Given the description of an element on the screen output the (x, y) to click on. 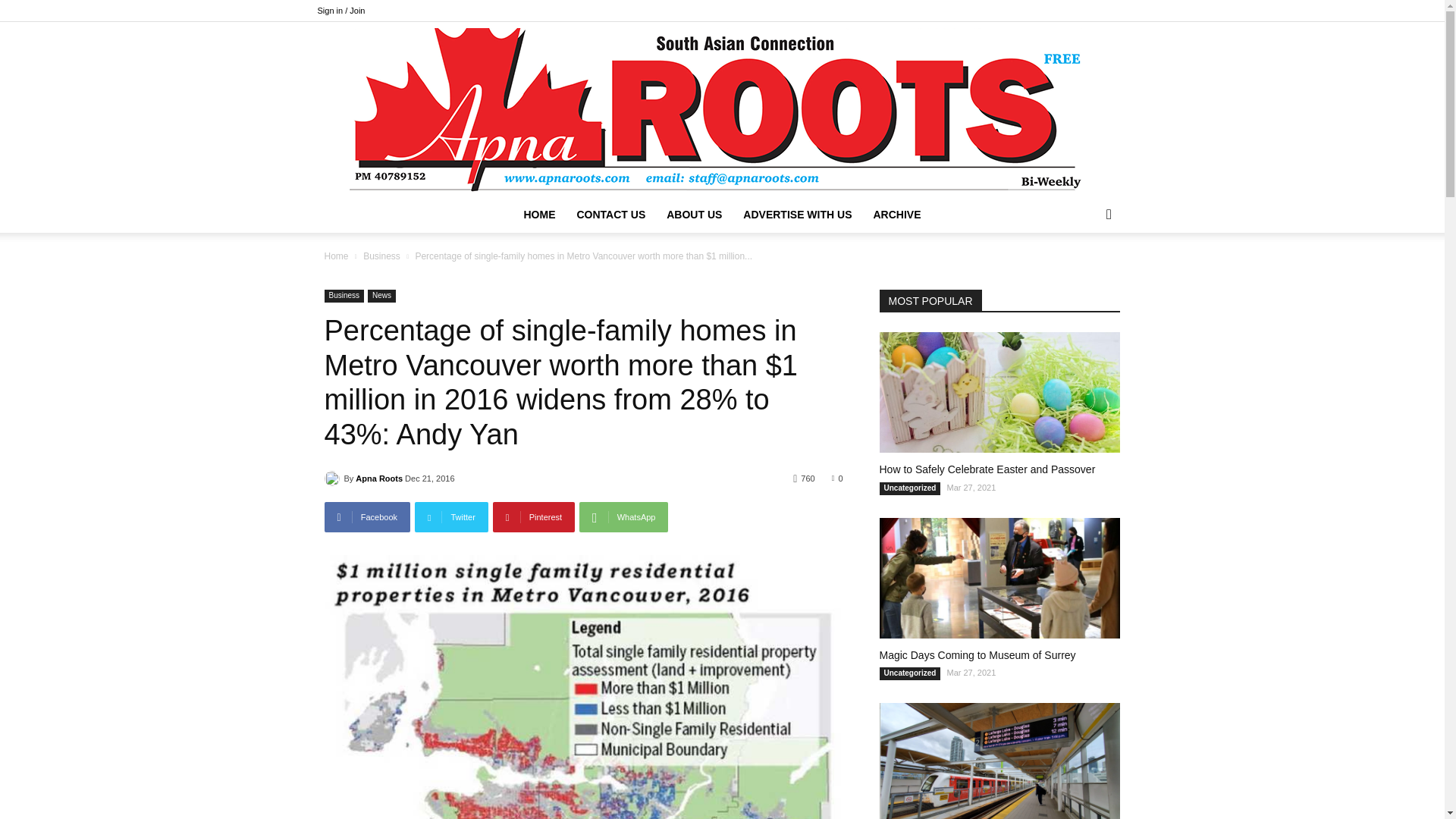
ADVERTISE WITH US (796, 214)
ABOUT US (694, 214)
0 (837, 477)
Apna Roots Newspaper Logo (721, 109)
Business (381, 255)
Facebook (367, 517)
HOME (539, 214)
WhatsApp (623, 517)
Pinterest (534, 517)
News (382, 295)
Magic Days Coming to Museum of Surrey (1000, 577)
Apna Roots (379, 477)
View all posts in Business (381, 255)
Twitter (450, 517)
